Given the description of an element on the screen output the (x, y) to click on. 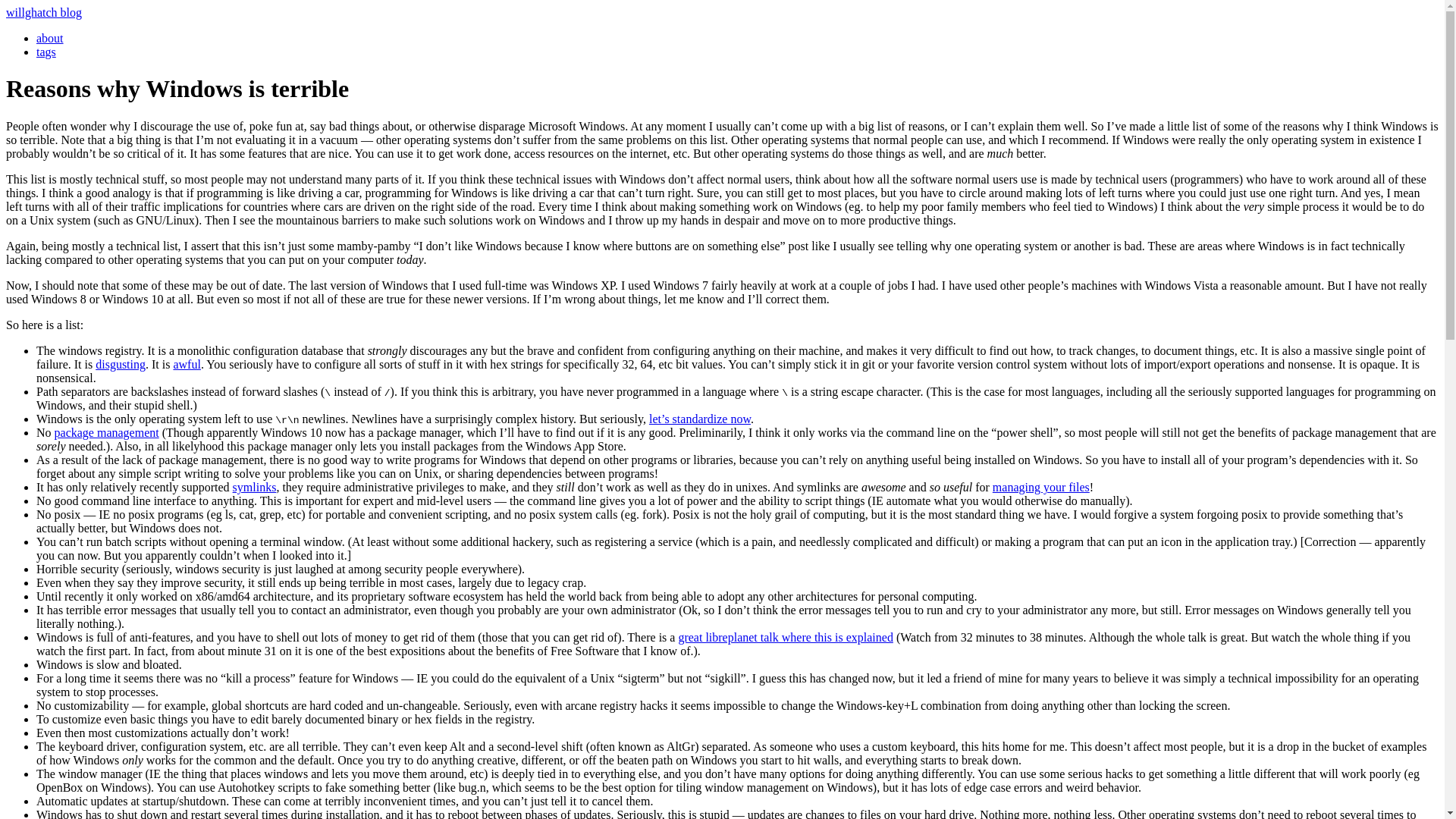
package management (106, 431)
great libreplanet talk where this is explained (785, 636)
managing your files (1040, 486)
symlinks (254, 486)
willghatch blog (43, 11)
disgusting (120, 364)
awful (186, 364)
tags (46, 51)
about (50, 38)
